Given the description of an element on the screen output the (x, y) to click on. 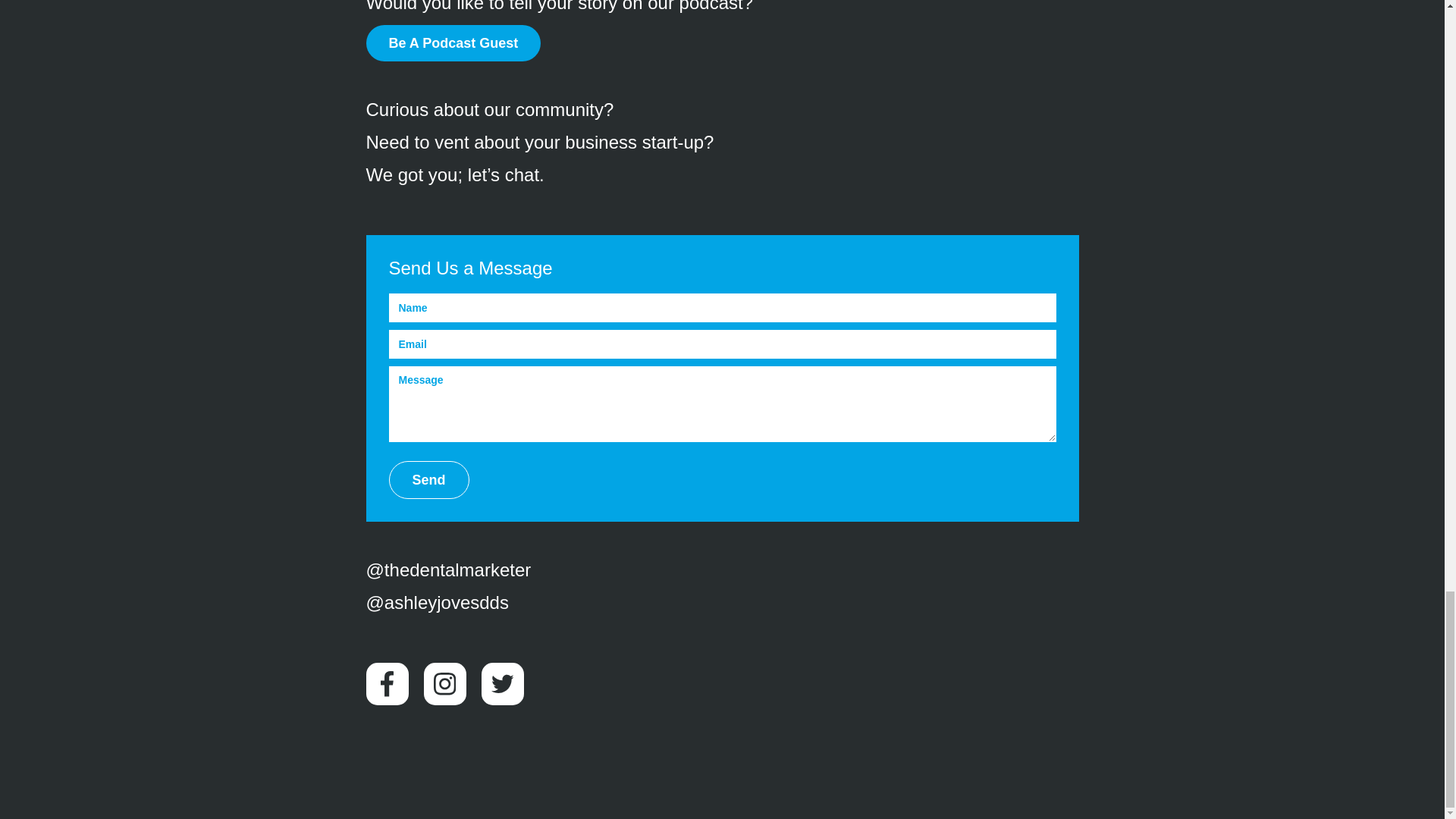
Send (428, 479)
Send (428, 479)
Be A Podcast Guest (452, 43)
